Given the description of an element on the screen output the (x, y) to click on. 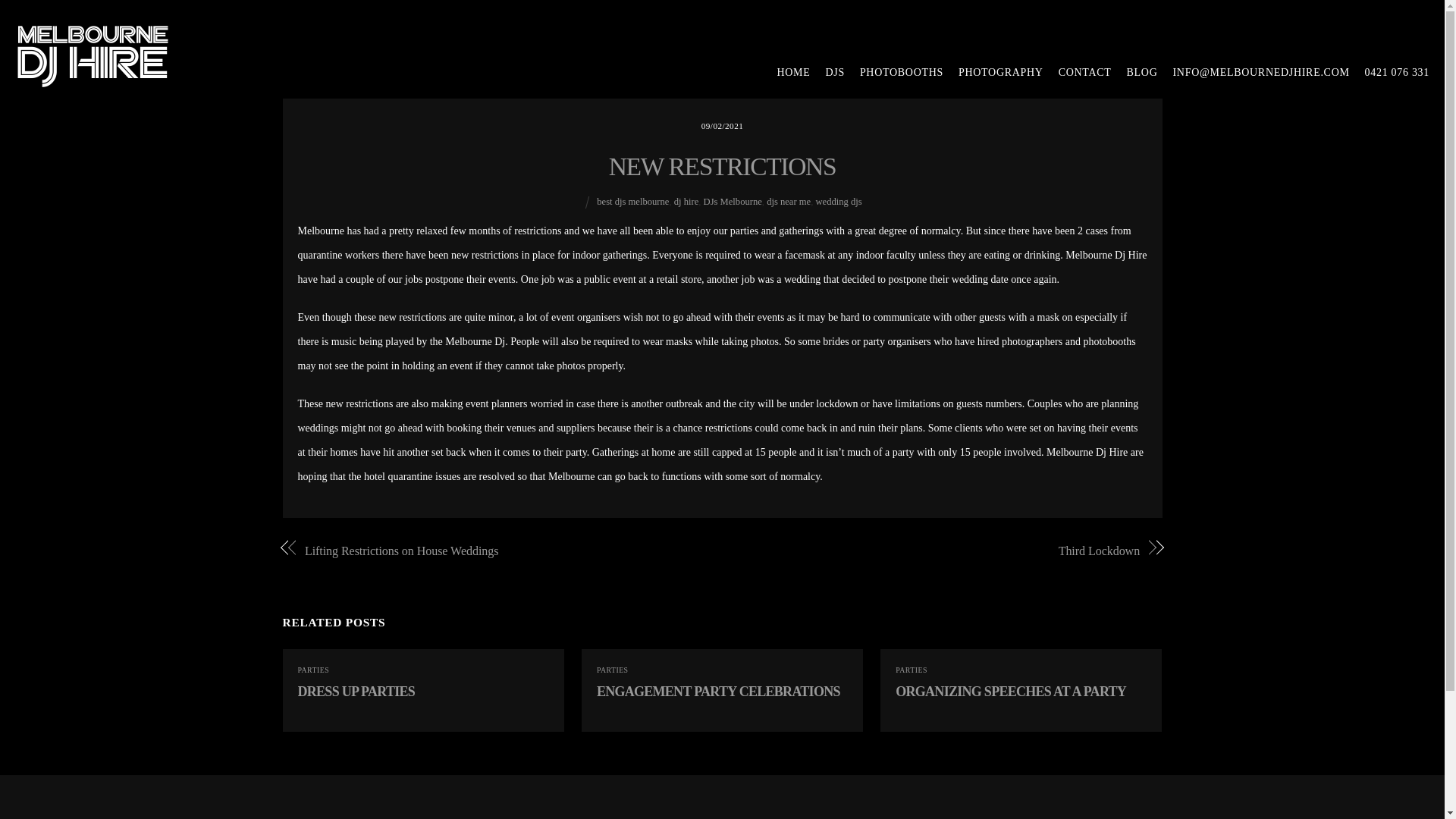
DJS (826, 72)
DJs Melbourne (732, 201)
CONTACT (1077, 72)
wedding djs (838, 201)
djs near me (788, 201)
NEW RESTRICTIONS (721, 166)
ENGAGEMENT PARTY CELEBRATIONS (718, 691)
HOME (785, 72)
Lifting Restrictions on House Weddings (499, 550)
ORGANIZING SPEECHES AT A PARTY (1010, 691)
PARTIES (911, 669)
PARTIES (612, 669)
BLOG (1134, 72)
0421 076 331 (1389, 72)
Melbourne DJ HIRE (92, 79)
